Given the description of an element on the screen output the (x, y) to click on. 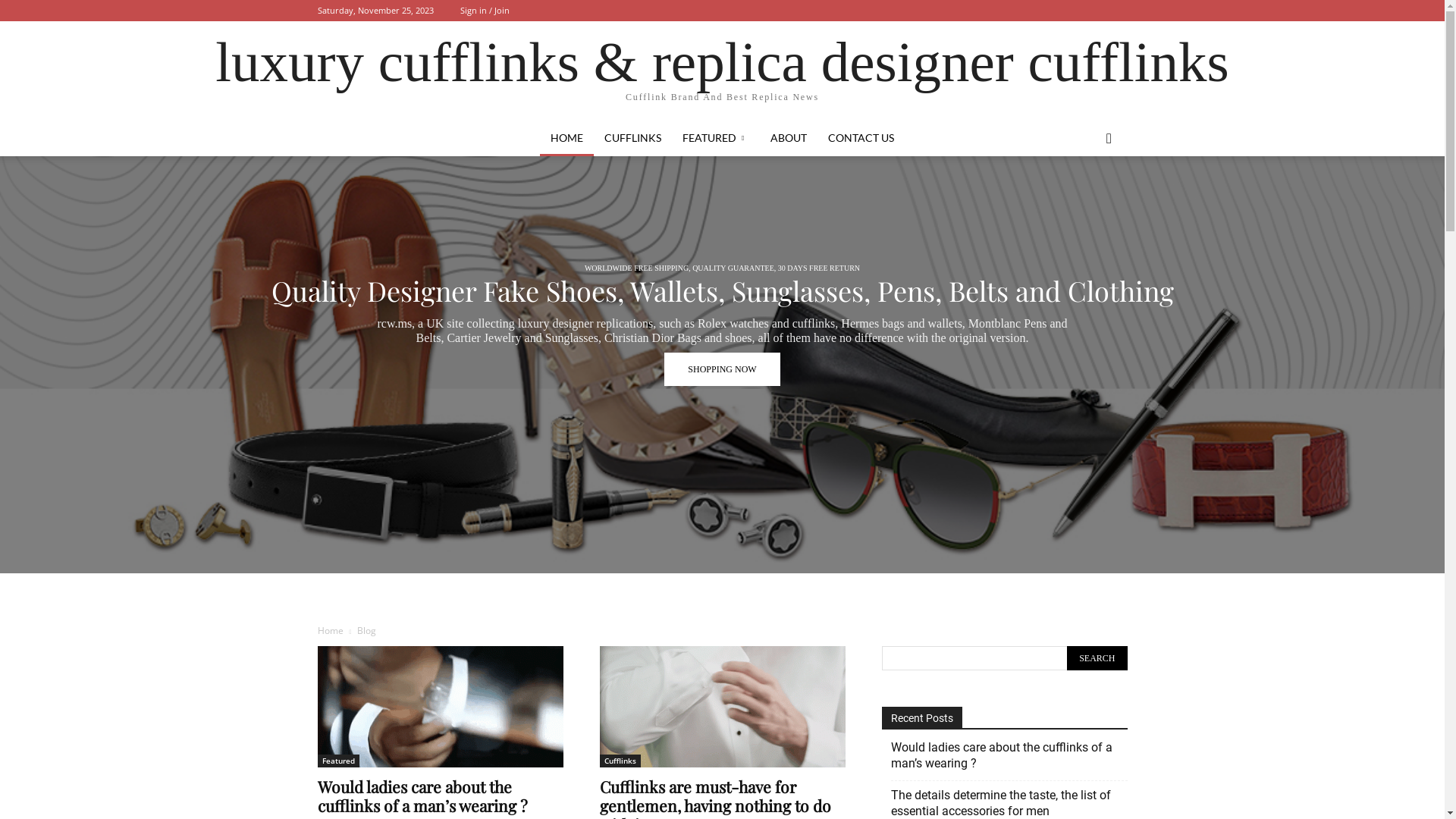
Search Element type: text (1096, 658)
Cufflinks Element type: text (619, 760)
ABOUT Element type: text (788, 137)
Search Element type: text (1081, 198)
SHOPPING NOW Element type: text (721, 368)
Sign in / Join Element type: text (483, 9)
Featured Element type: text (337, 760)
FEATURED Element type: text (715, 137)
CUFFLINKS Element type: text (632, 137)
Home Element type: text (329, 630)
CONTACT US Element type: text (860, 137)
HOME Element type: text (566, 137)
